Given the description of an element on the screen output the (x, y) to click on. 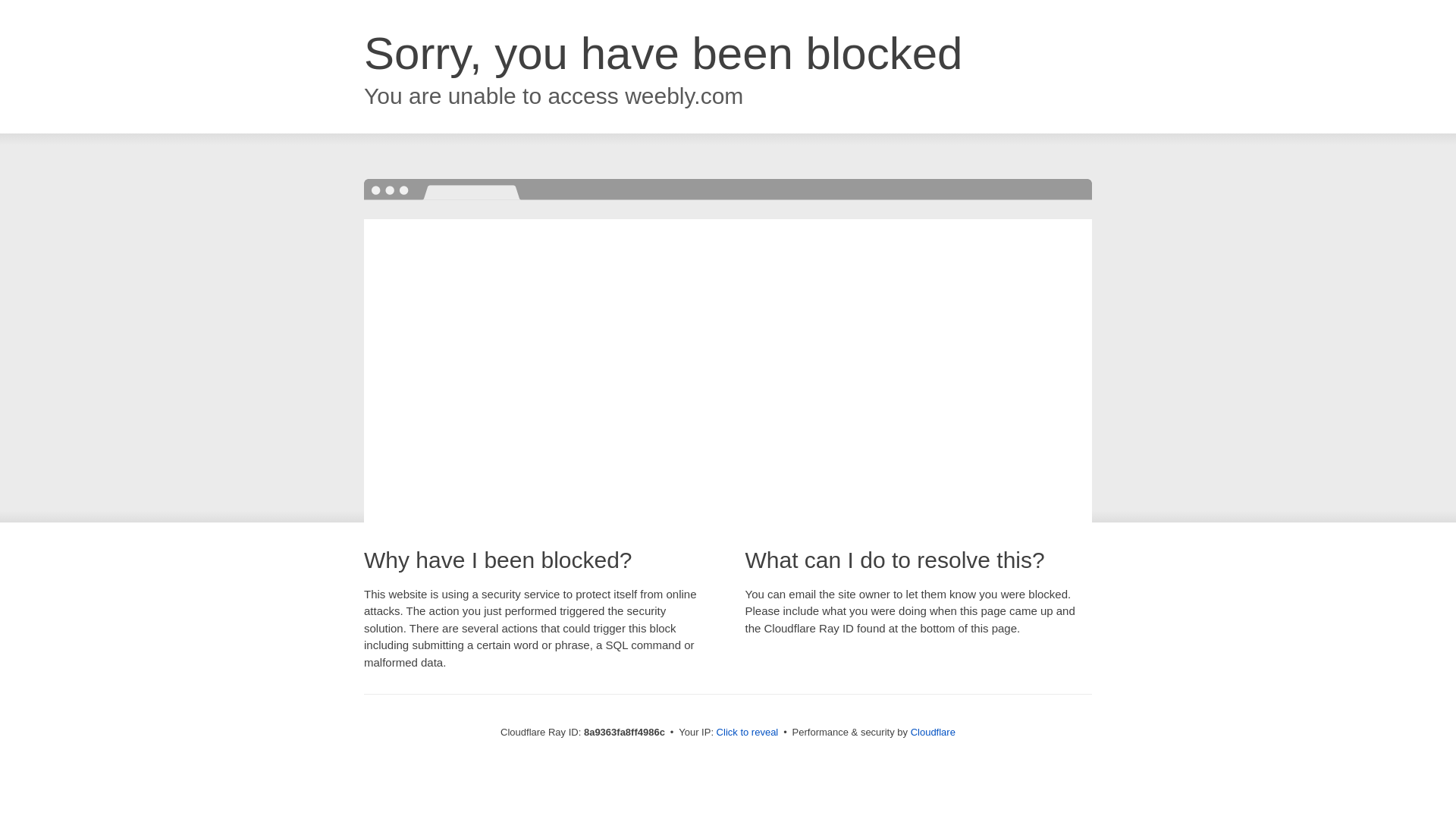
Cloudflare (933, 731)
Click to reveal (747, 732)
